Given the description of an element on the screen output the (x, y) to click on. 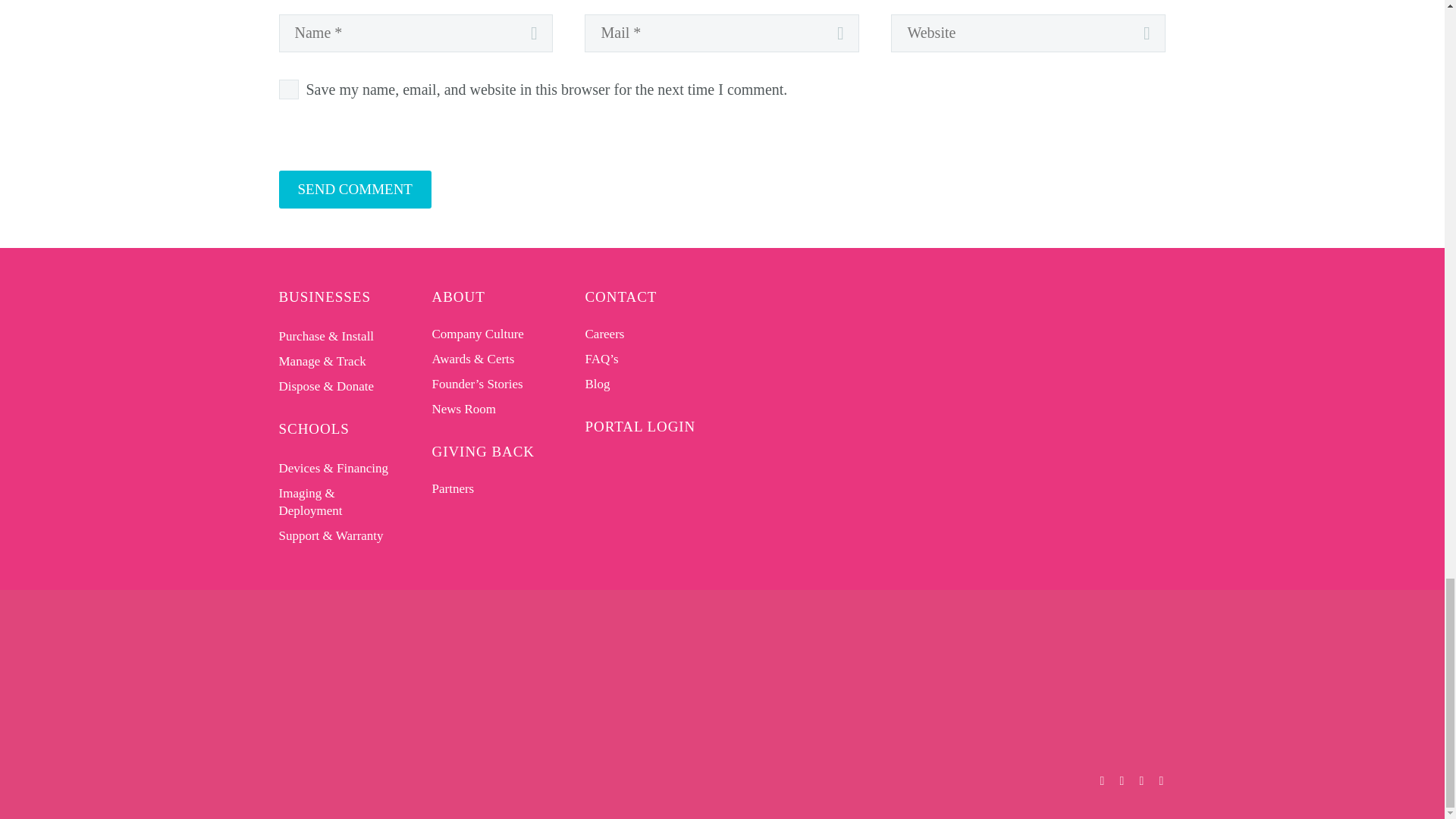
LinkedIn (1122, 780)
News Room (464, 409)
Company Culture (478, 332)
SEND COMMENT (354, 188)
BUSINESSES (325, 295)
PORTAL LOGIN (640, 426)
SCHOOLS (314, 427)
Partners (453, 487)
YouTube (1161, 780)
Instagram (1141, 780)
Blog (597, 382)
GIVING BACK (483, 450)
CONTACT (621, 295)
ABOUT (458, 295)
Careers (604, 332)
